Given the description of an element on the screen output the (x, y) to click on. 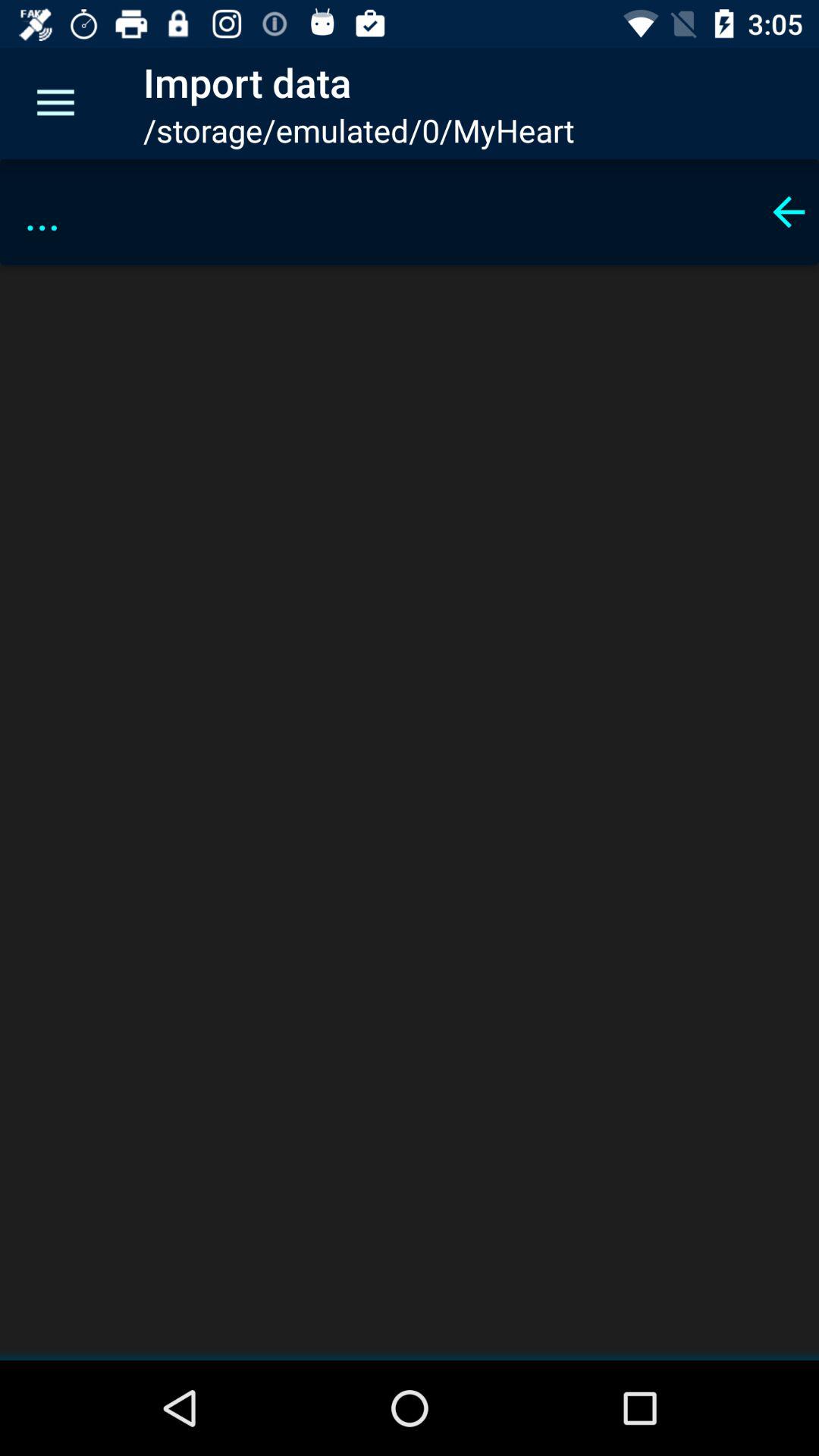
tap the icon next to import data (55, 103)
